Given the description of an element on the screen output the (x, y) to click on. 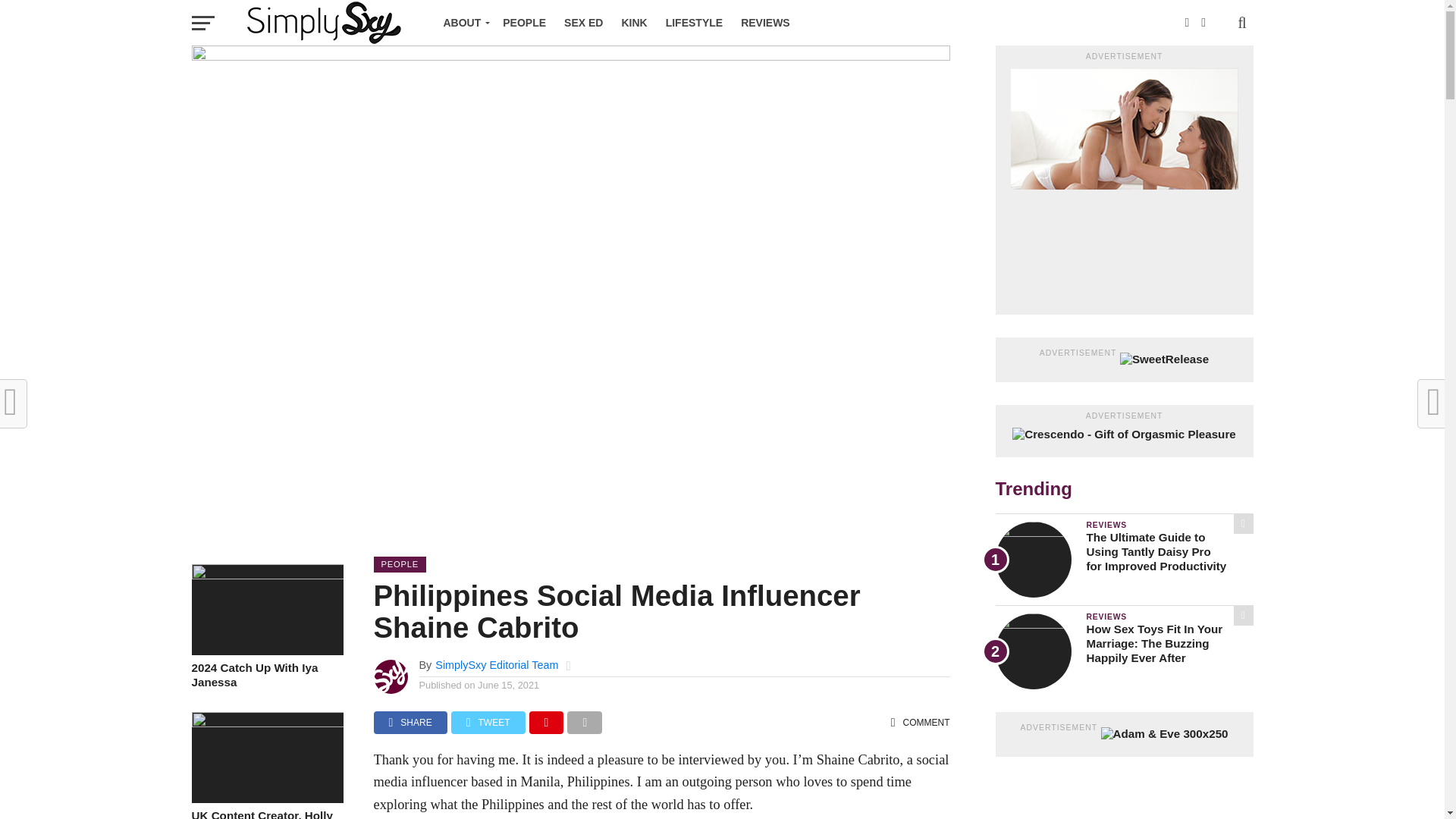
2024 Catch Up With Iya Janessa (266, 574)
ABOUT (463, 22)
SEX ED (582, 22)
Posts by SimplySxy Editorial Team (496, 664)
UK Content Creator, Holly Cooper (266, 722)
LIFESTYLE (694, 22)
KINK (633, 22)
PEOPLE (523, 22)
